Given the description of an element on the screen output the (x, y) to click on. 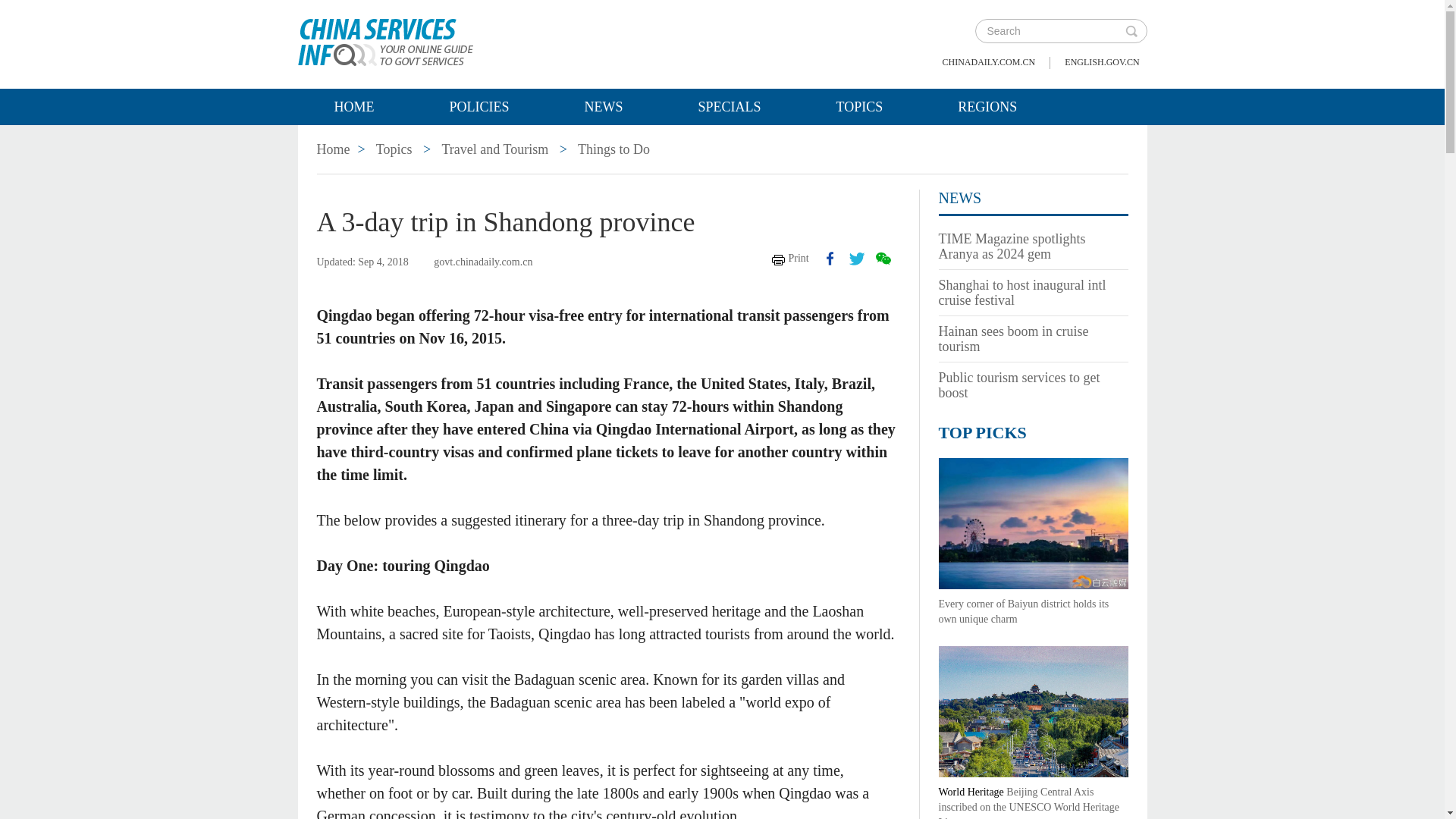
Things to Do (613, 149)
NEWS (960, 197)
chinadaily.com.cn (988, 61)
Topics (393, 149)
Home (333, 149)
print (790, 258)
TIME Magazine spotlights Aranya as 2024 gem (1012, 245)
Policies (478, 106)
english.gov.cn (1101, 61)
Things to Do (613, 149)
wechat (882, 258)
HOME (353, 106)
Every corner of Baiyun district holds its own unique charm (1024, 611)
facebook (829, 258)
Topics (859, 106)
